Given the description of an element on the screen output the (x, y) to click on. 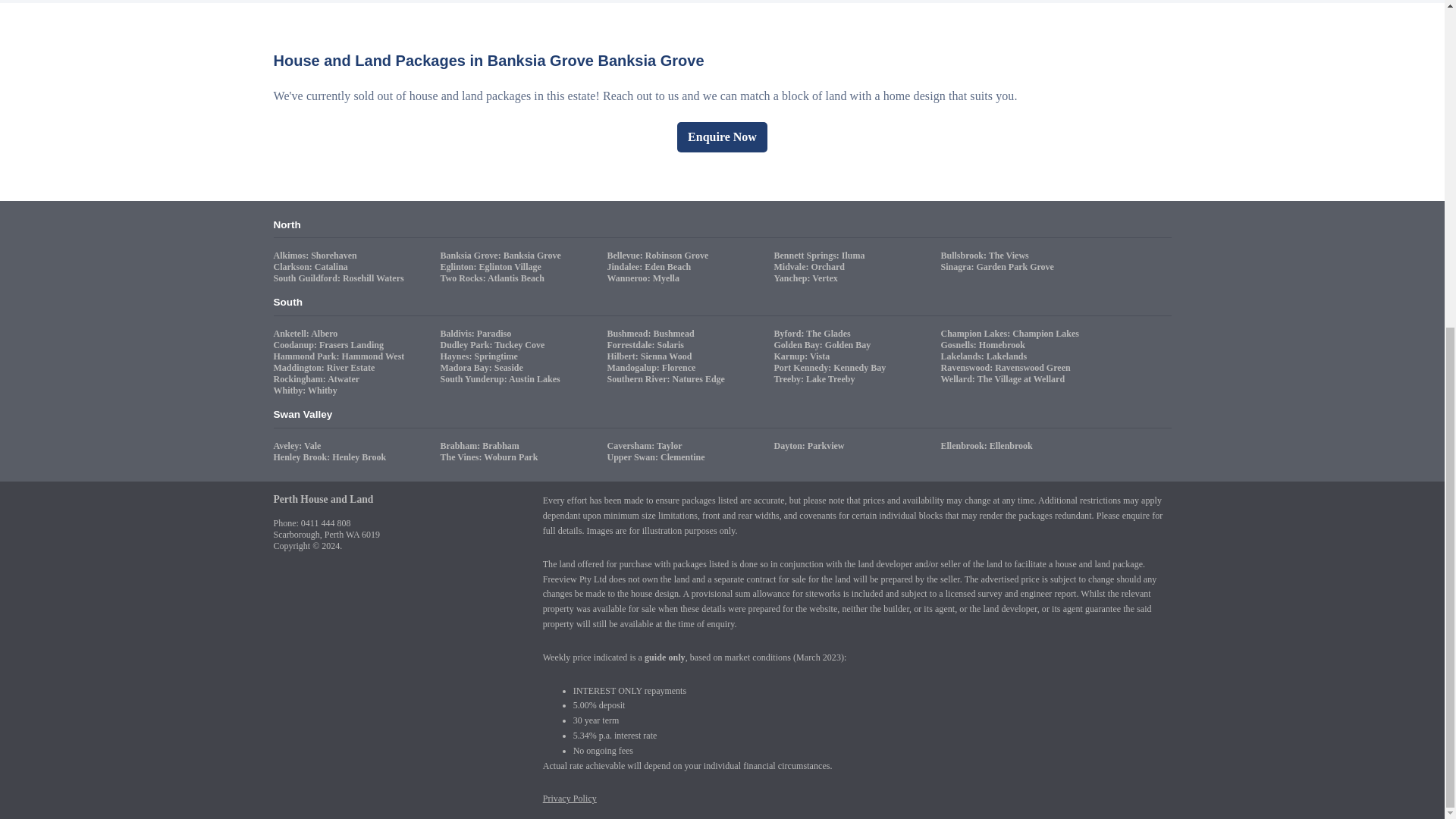
Maddington: River Estate (325, 367)
Karnup: Vista (802, 356)
Champion Lakes: Champion Lakes (1010, 333)
Forrestdale: Solaris (647, 344)
Wanneroo: Myella (644, 277)
Yanchep: Vertex (807, 277)
Two Rocks: Atlantis Beach (493, 277)
Jindalee: Eden Beach (650, 266)
Anketell: Albero (306, 333)
Clarkson: Catalina (311, 266)
Golden Bay: Golden Bay (824, 344)
Gosnells: Homebrook (983, 344)
Coodanup: Frasers Landing (330, 344)
Lakelands: Lakelands (985, 356)
Enquire Now (722, 137)
